Given the description of an element on the screen output the (x, y) to click on. 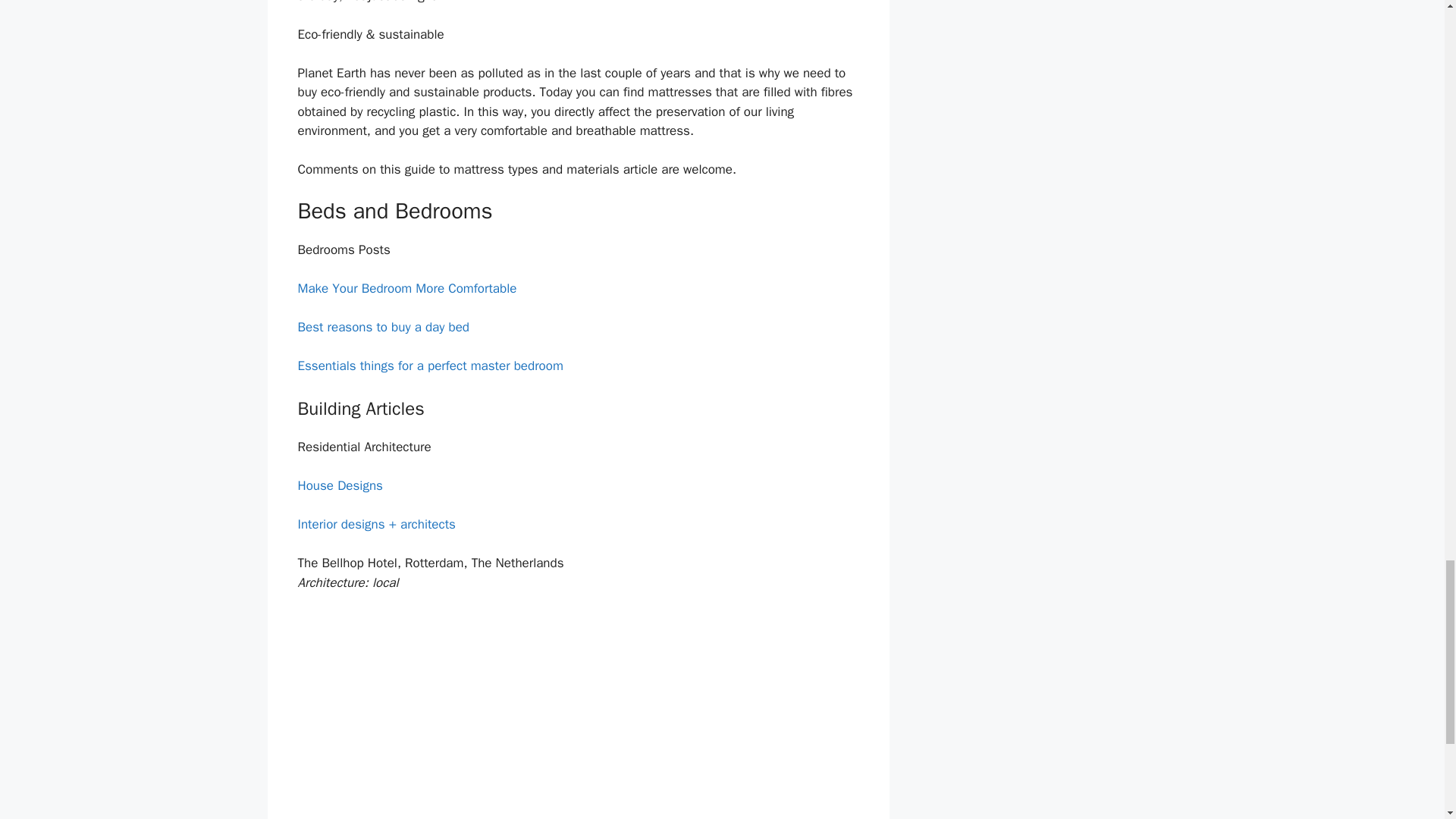
Essentials things for a perfect master bedroom (429, 365)
House Designs (339, 485)
Best reasons to buy a day bed (382, 326)
Make Your Bedroom More Comfortable (406, 288)
